Given the description of an element on the screen output the (x, y) to click on. 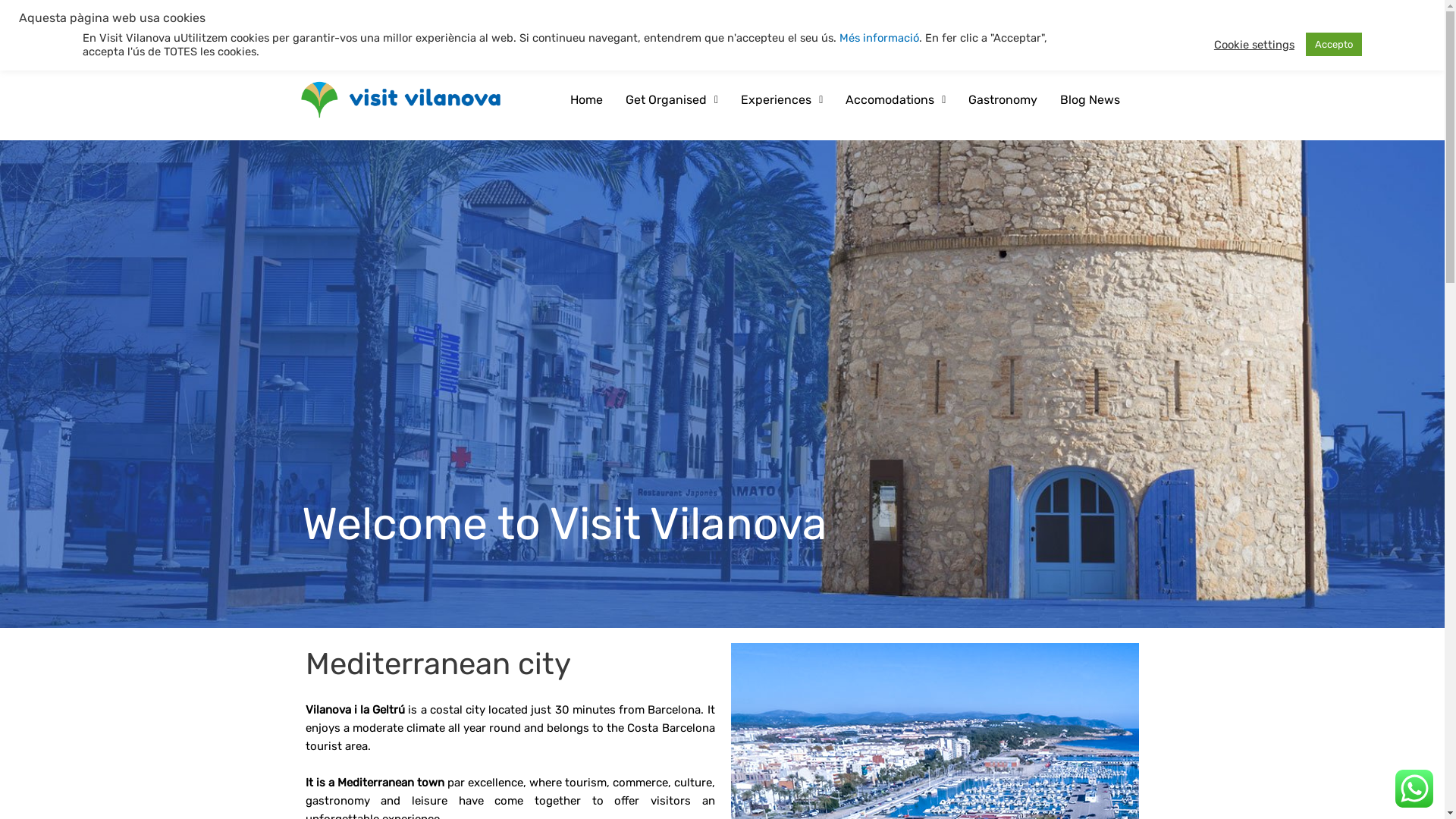
Cookie settings Element type: text (1254, 44)
Accomodations Element type: text (895, 42)
hola@visitvilanova.cat Element type: text (830, 16)
English Element type: text (612, 14)
Accepto Element type: text (1333, 44)
Blog News Element type: text (1089, 65)
Profesionales Element type: text (1086, 16)
Gastronomy Element type: text (1002, 63)
Professionals Element type: text (1006, 16)
